Given the description of an element on the screen output the (x, y) to click on. 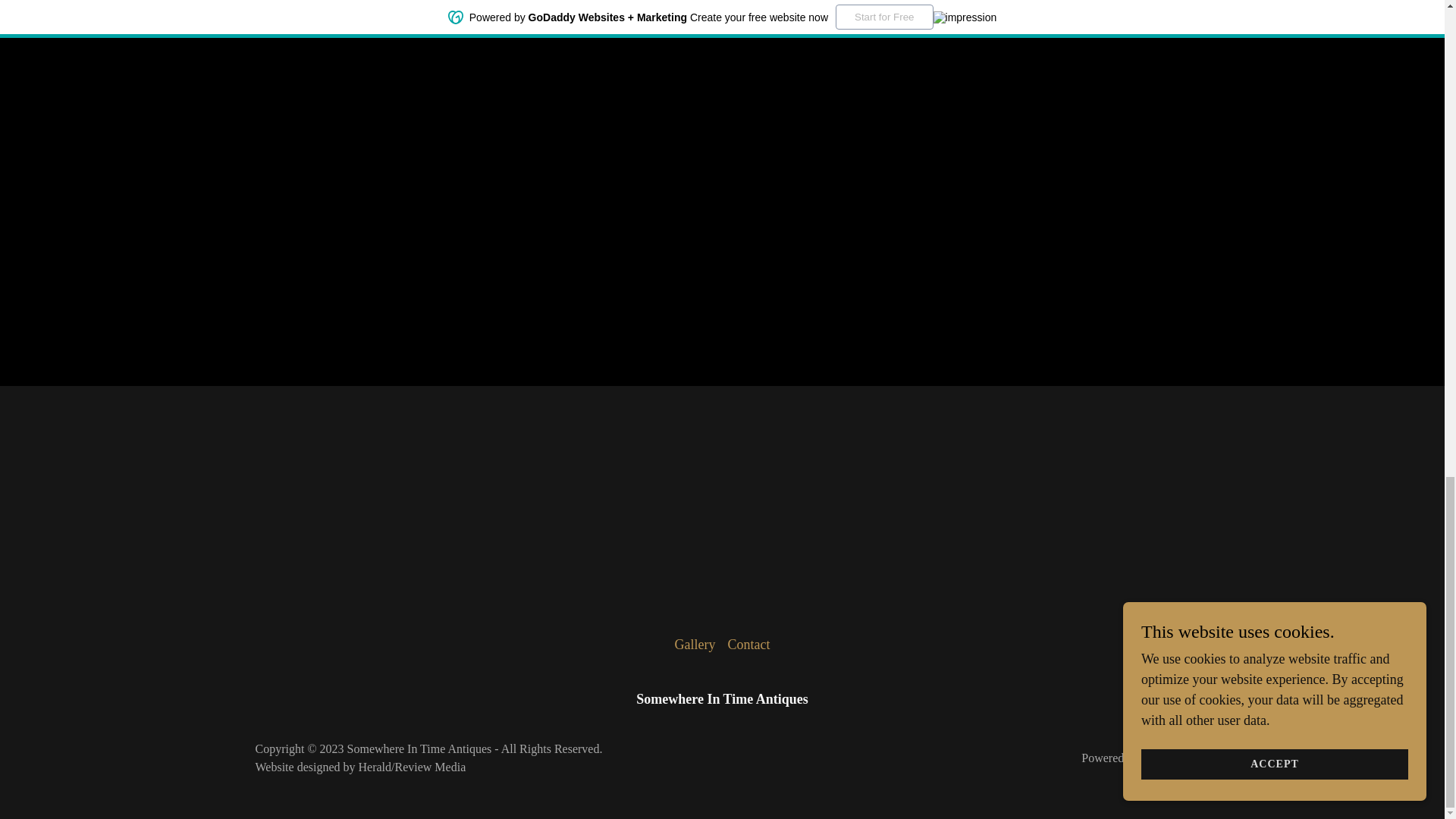
Gallery (695, 644)
Contact (748, 644)
GoDaddy (1165, 757)
